Given the description of an element on the screen output the (x, y) to click on. 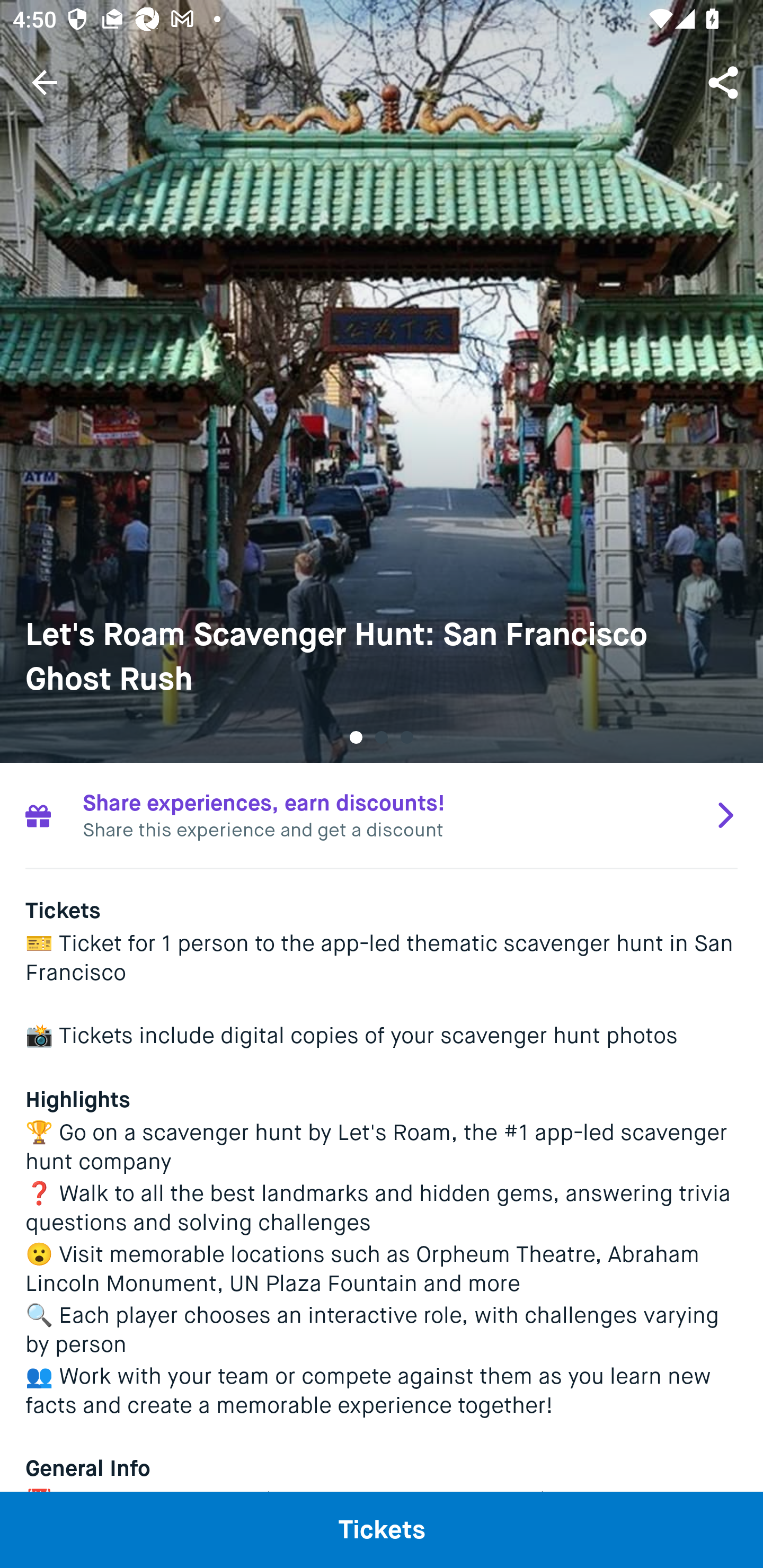
Navigate up (44, 82)
Share (724, 81)
Tickets (381, 1529)
